Given the description of an element on the screen output the (x, y) to click on. 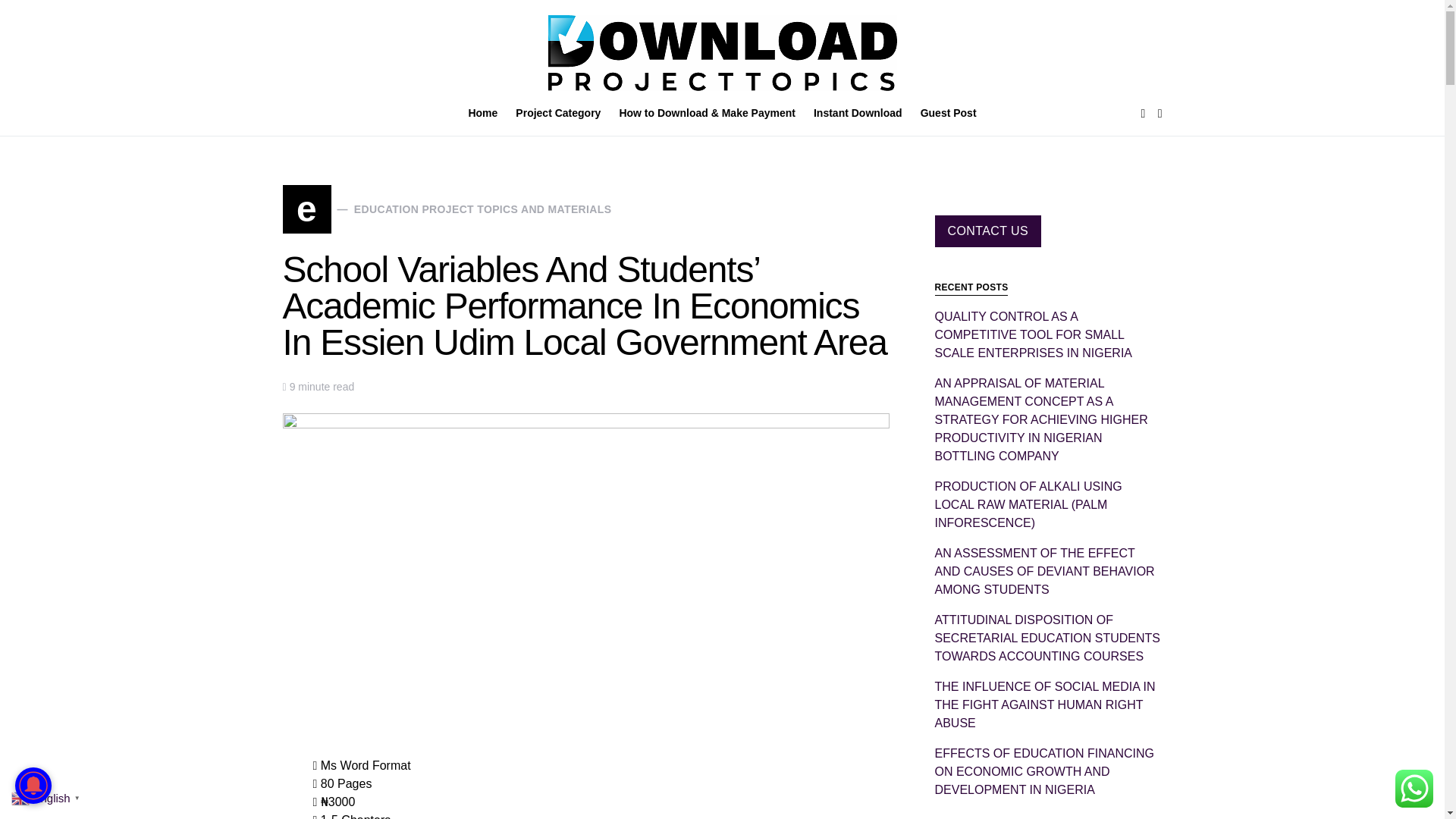
Project Category (558, 113)
Guest Post (943, 113)
Instant Download (446, 209)
